Given the description of an element on the screen output the (x, y) to click on. 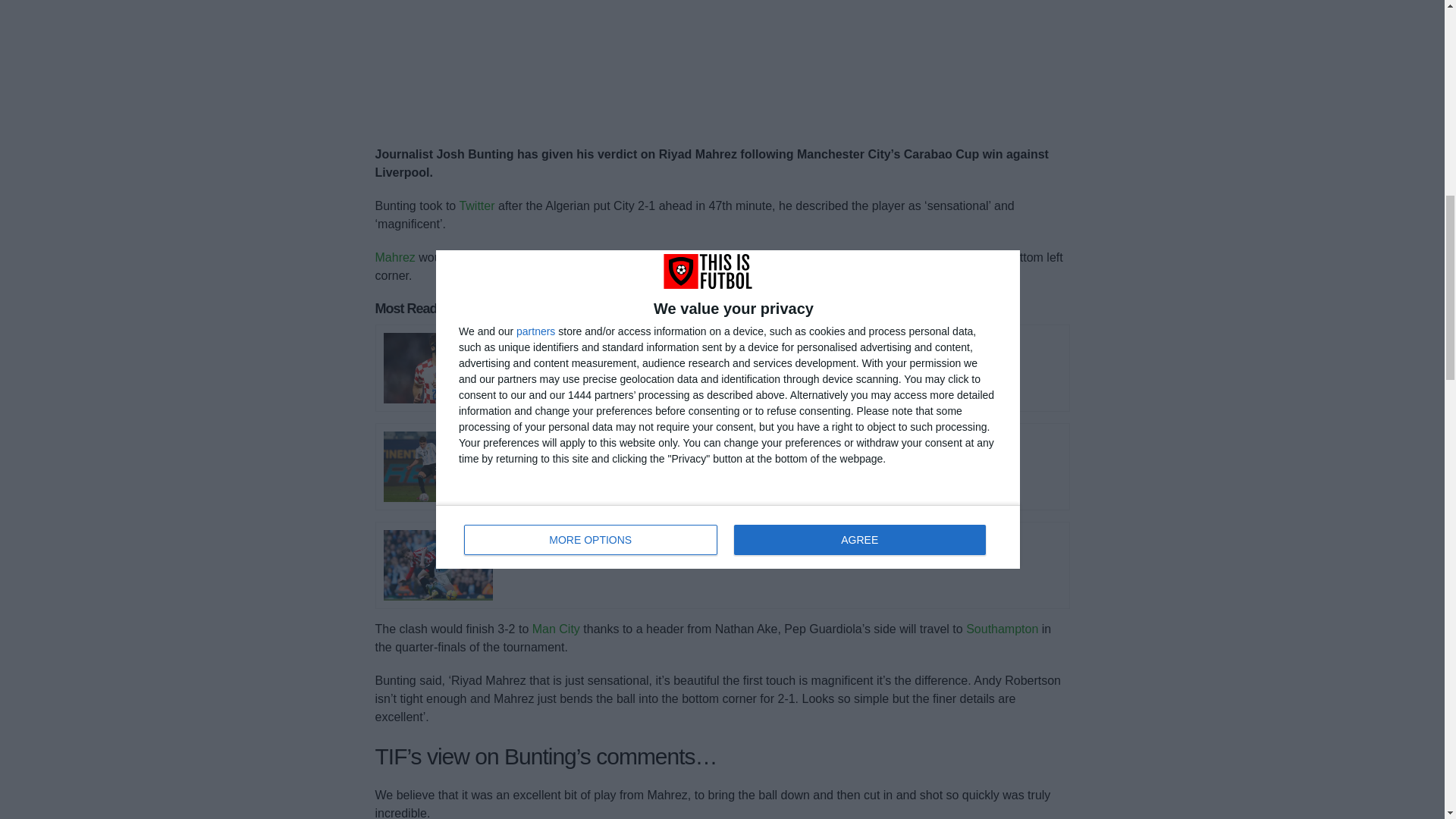
Mahrez (394, 256)
Southampton (1002, 628)
Man City (555, 628)
Twitter (476, 205)
